Given the description of an element on the screen output the (x, y) to click on. 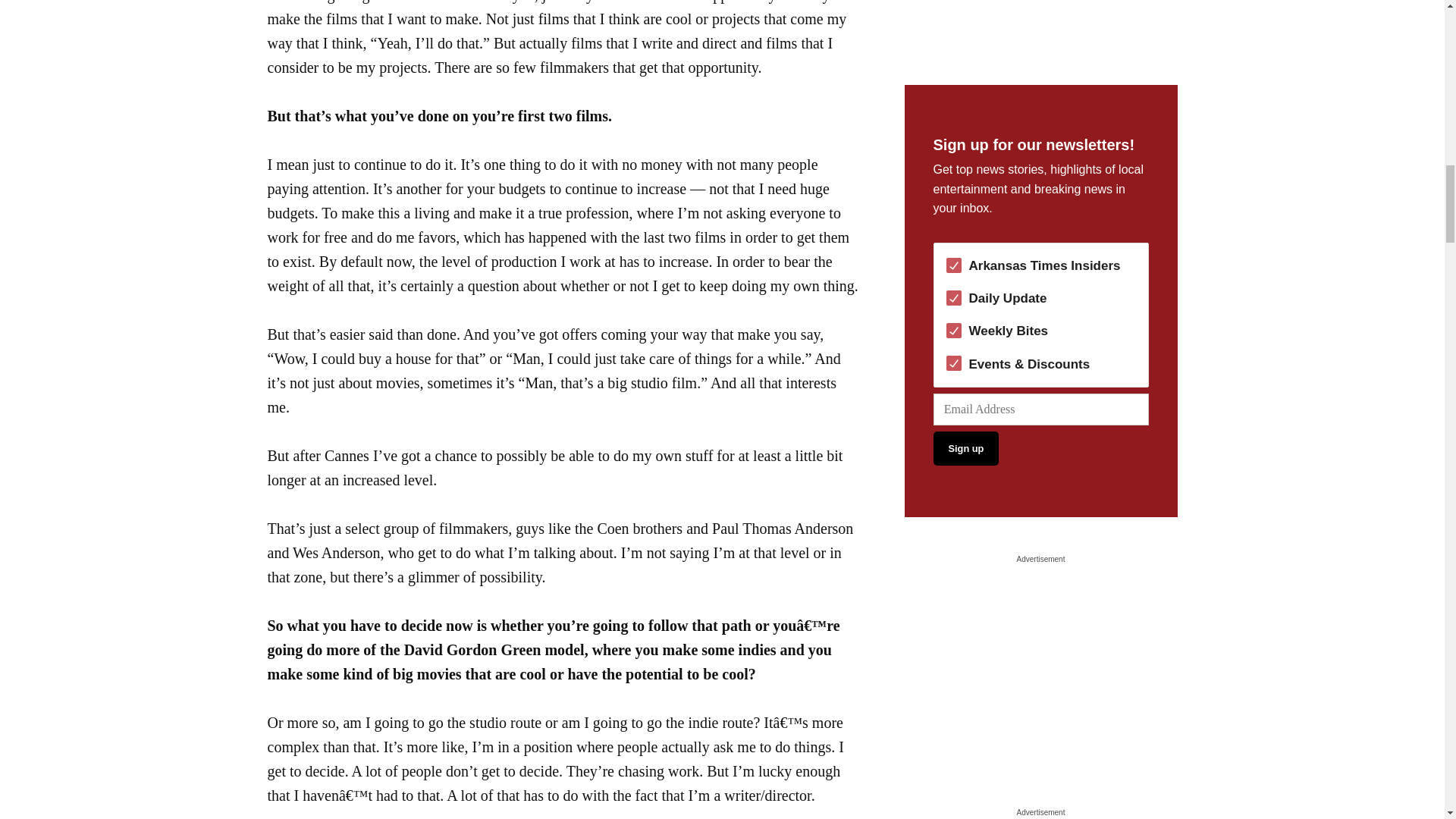
3rd party ad content (1040, 24)
45 (953, 363)
1 (953, 264)
3rd party ad content (1040, 663)
44 (953, 330)
43 (953, 297)
